Given the description of an element on the screen output the (x, y) to click on. 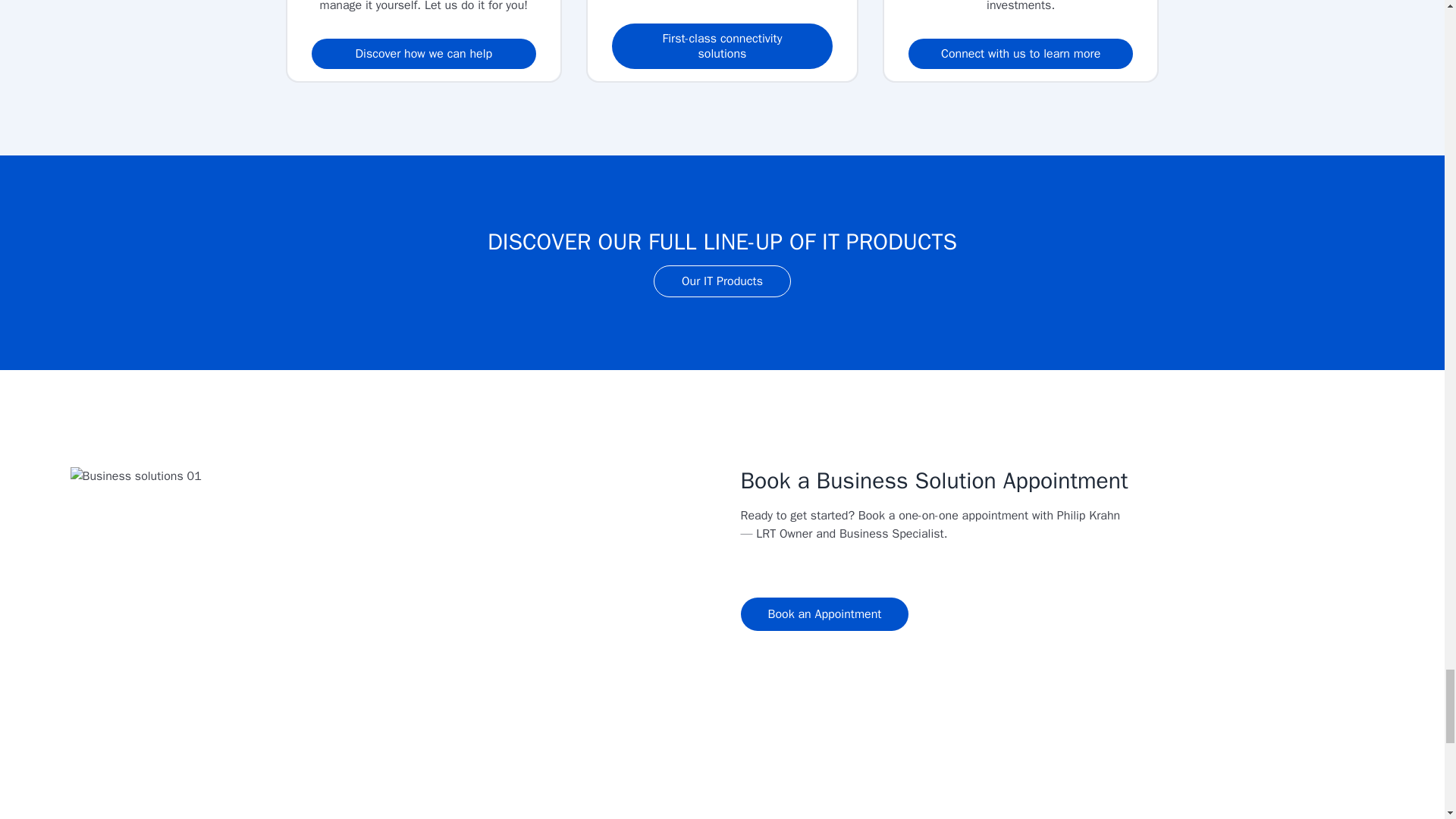
Connect with us to learn more (1020, 53)
Discover how we can help (423, 53)
Our IT Products (721, 281)
First-class connectivity solutions (721, 45)
Book an Appointment (823, 613)
